Given the description of an element on the screen output the (x, y) to click on. 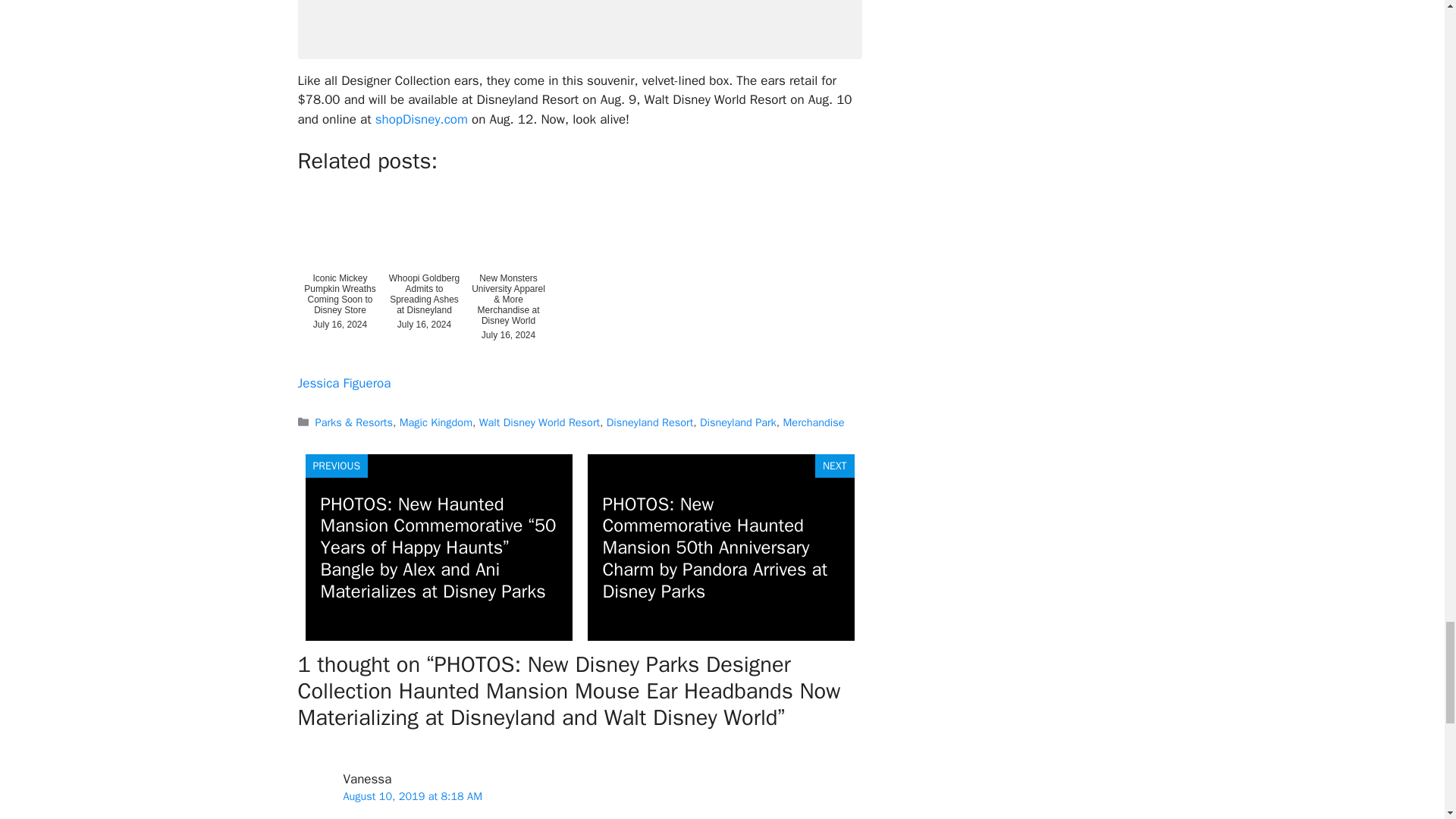
Jessica Figueroa (343, 383)
